Given the description of an element on the screen output the (x, y) to click on. 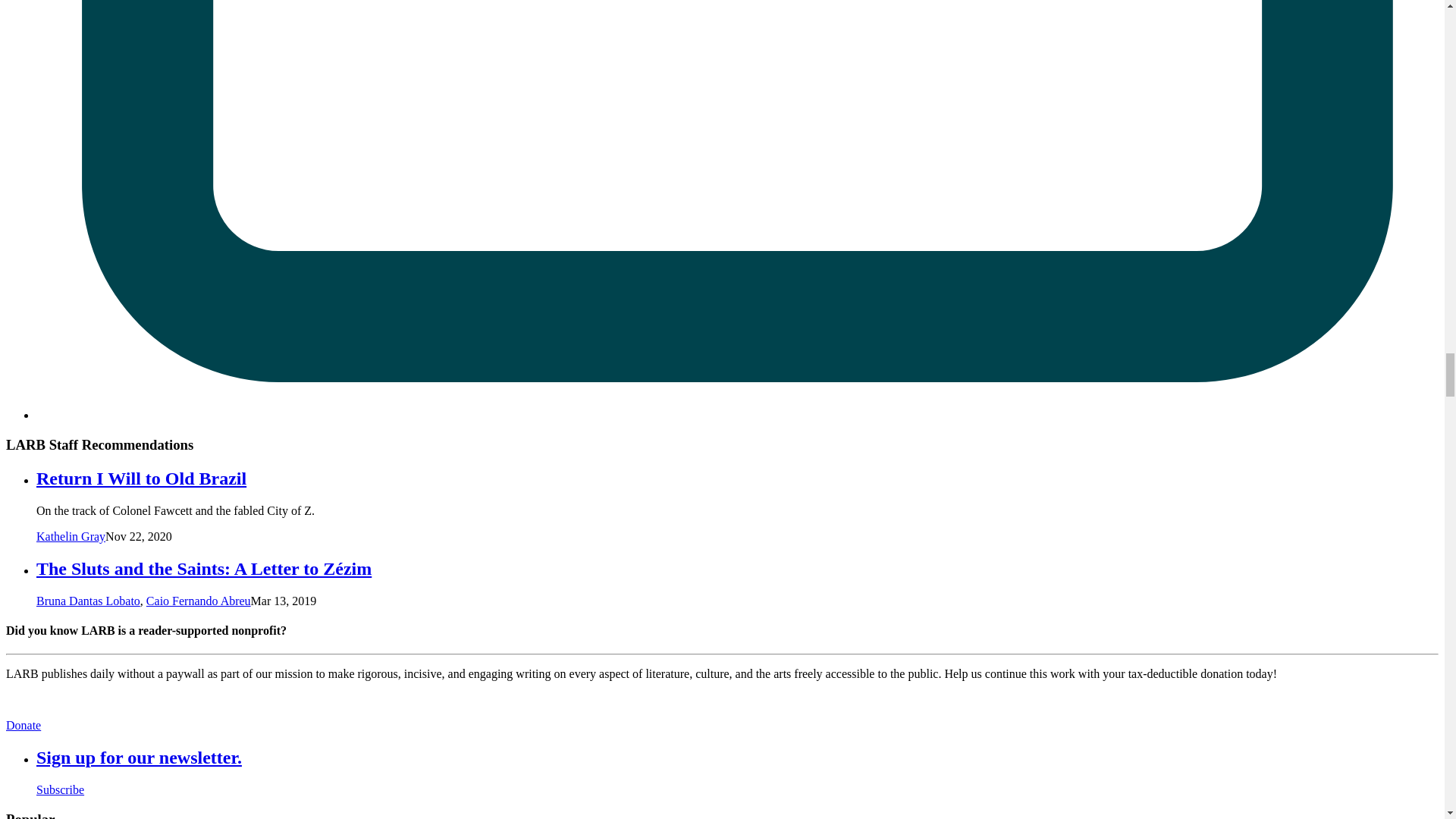
Caio Fernando Abreu (198, 600)
Sign up for our newsletter. (138, 757)
Bruna Dantas Lobato (87, 600)
Kathelin Gray (70, 535)
Return I Will to Old Brazil (141, 478)
